Given the description of an element on the screen output the (x, y) to click on. 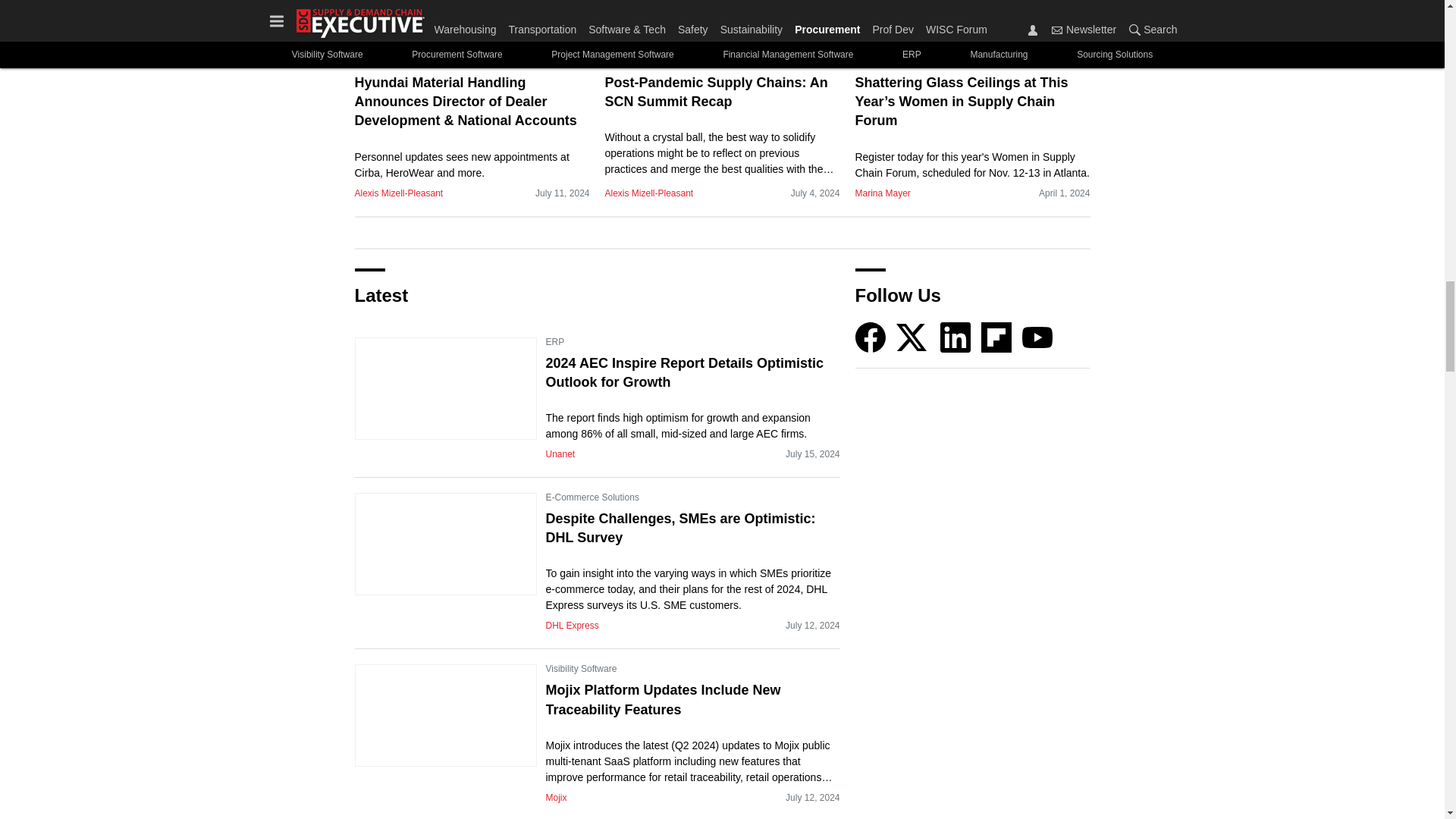
Flipboard icon (996, 337)
Twitter X icon (911, 337)
YouTube icon (1037, 337)
Facebook icon (870, 337)
LinkedIn icon (955, 337)
